Given the description of an element on the screen output the (x, y) to click on. 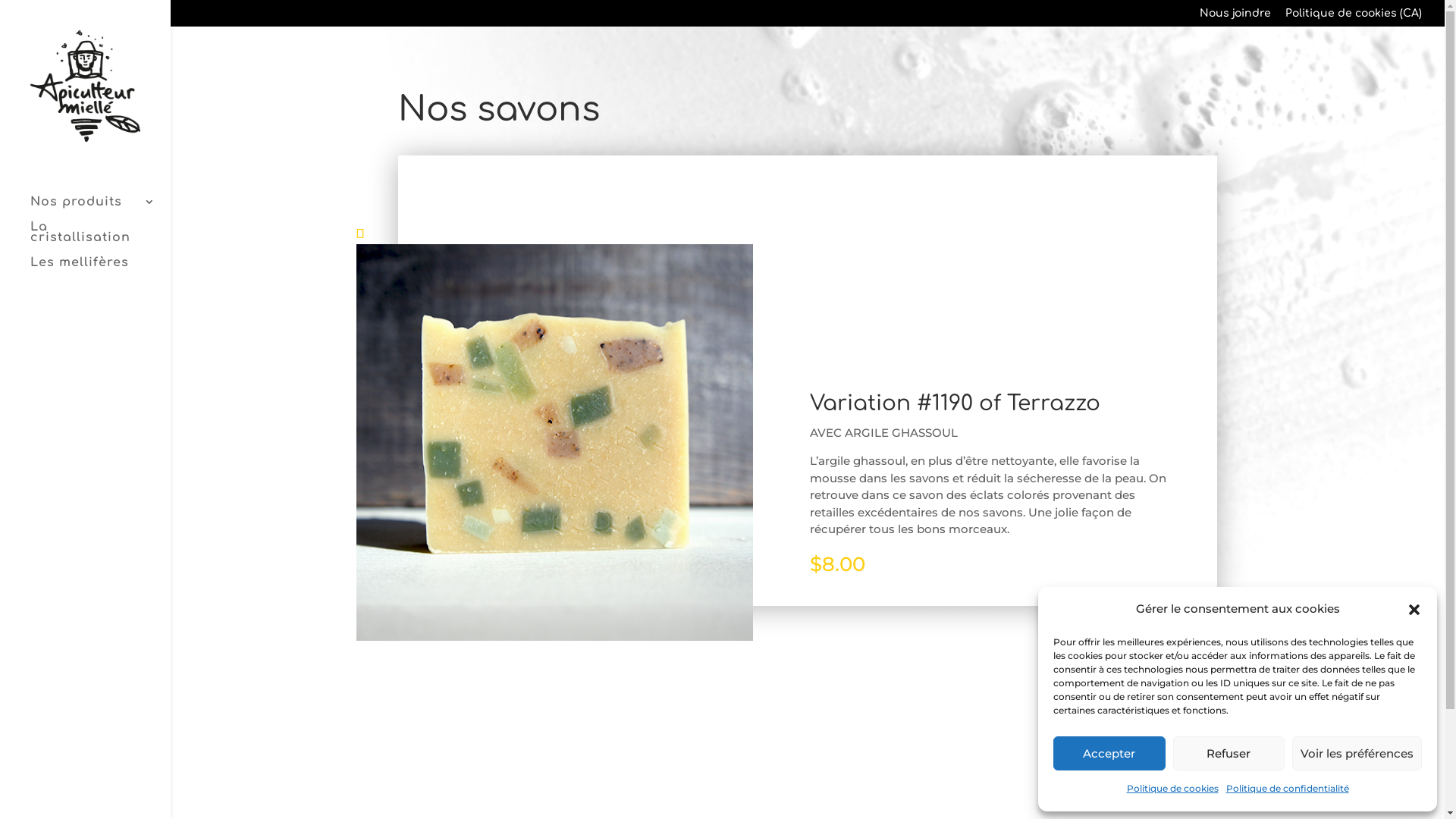
Accepter Element type: text (1109, 753)
Nos produits Element type: text (100, 208)
Nous joindre Element type: text (1234, 16)
Refuser Element type: text (1228, 753)
Politique de cookies Element type: text (1172, 789)
La cristallisation Element type: text (100, 239)
Politique de cookies (CA) Element type: text (1353, 16)
Terrazzo Element type: hover (554, 442)
